Given the description of an element on the screen output the (x, y) to click on. 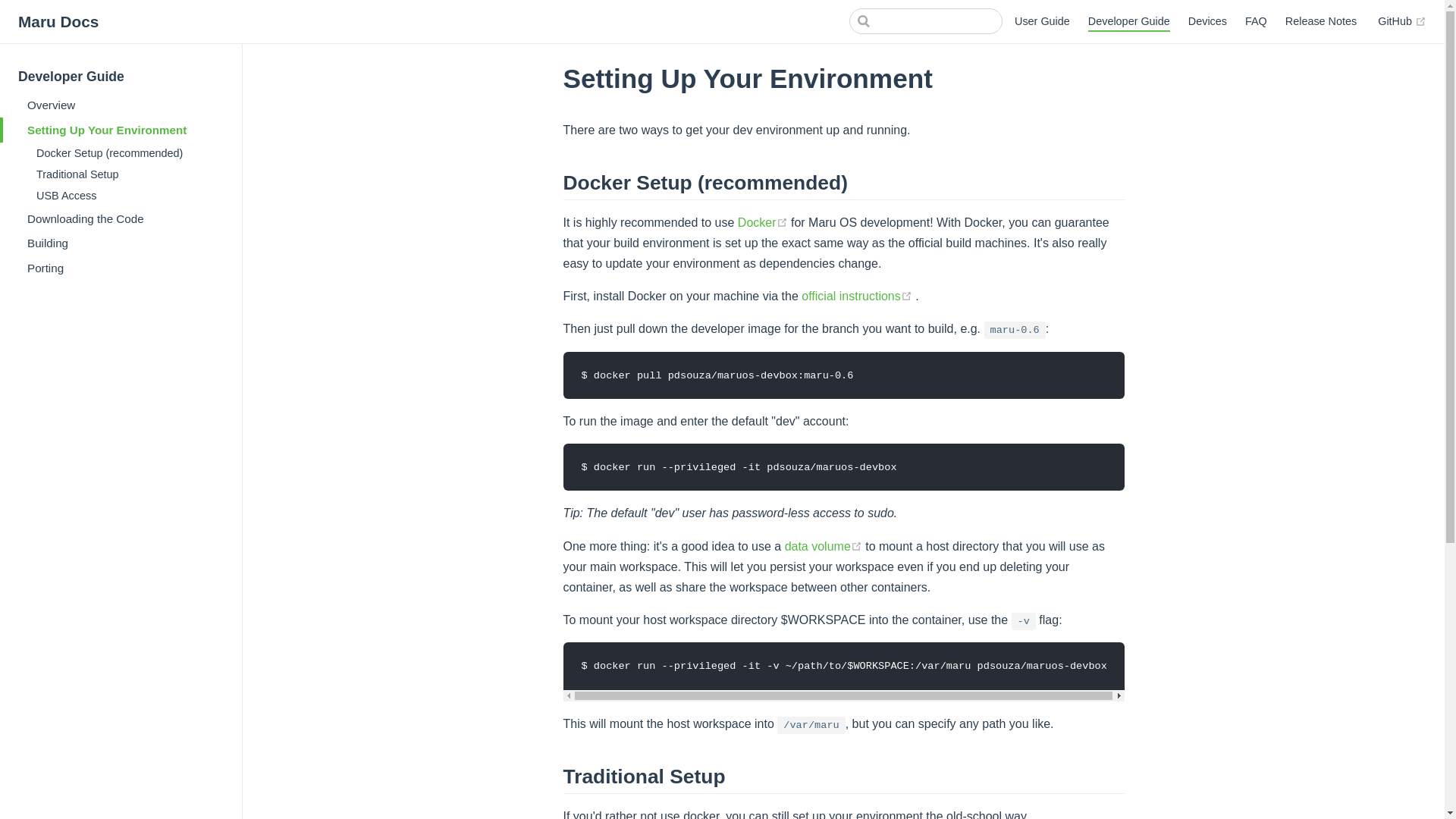
Setting Up Your Environment (120, 129)
Maru Docs (58, 22)
Release Notes (1320, 21)
USB Access (126, 195)
Overview (120, 105)
Developer Guide (1128, 22)
User Guide (1042, 21)
Porting (120, 267)
Downloading the Code (120, 218)
Devices (1207, 21)
Building (120, 242)
FAQ (1255, 21)
Traditional Setup (126, 174)
